Given the description of an element on the screen output the (x, y) to click on. 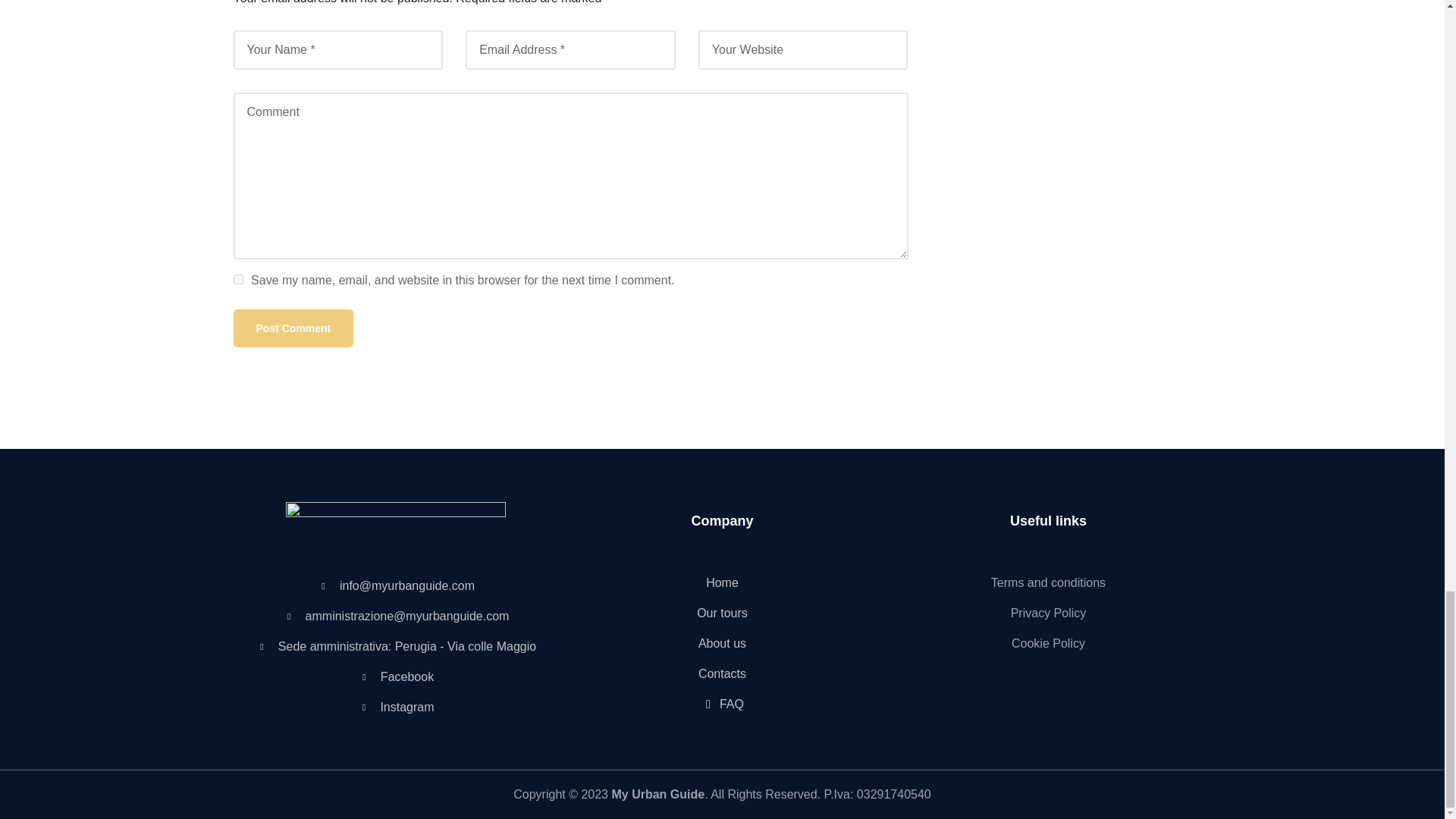
Post Comment (292, 328)
yes (237, 279)
Post Comment (292, 328)
